Given the description of an element on the screen output the (x, y) to click on. 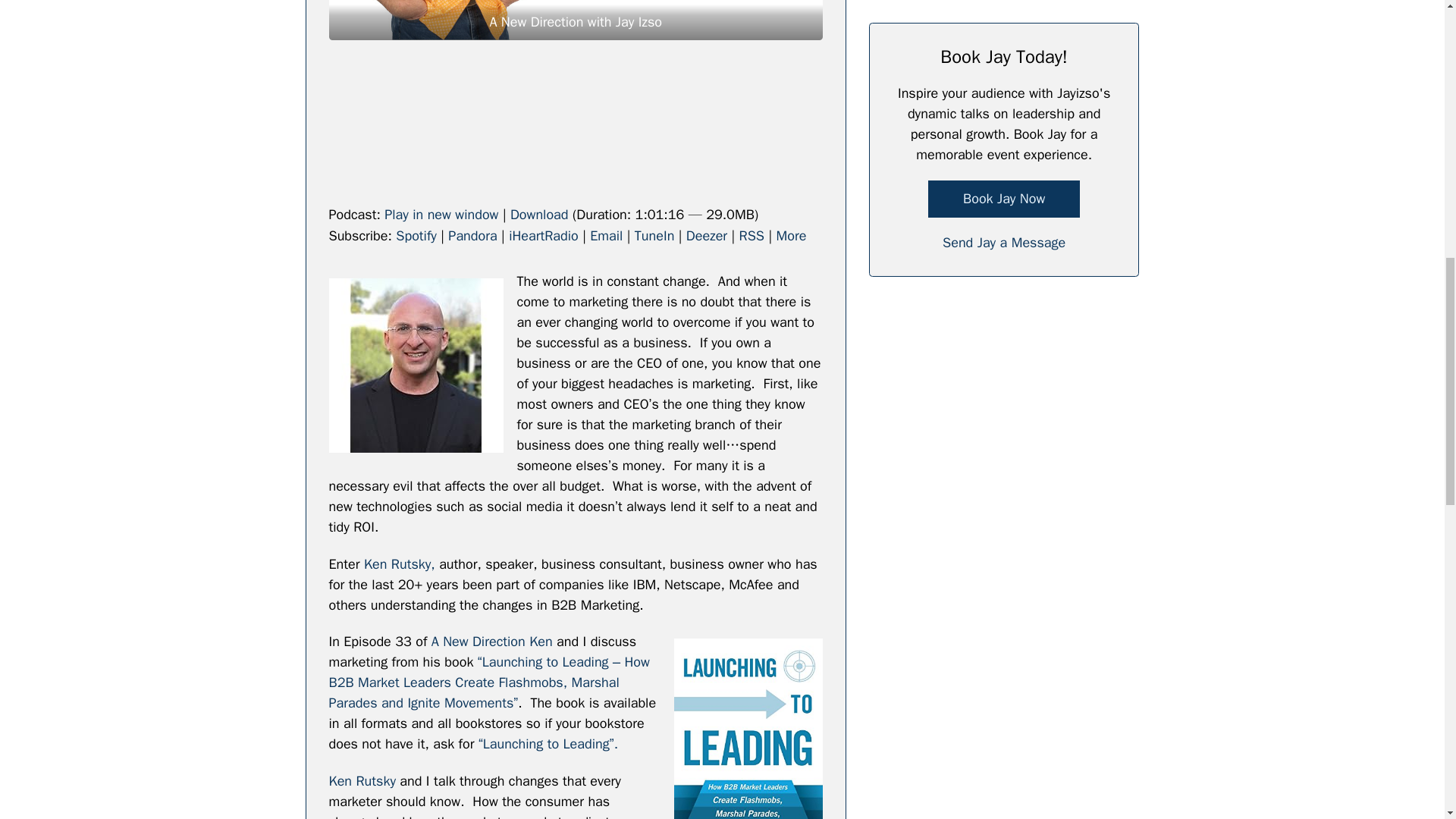
Subscribe on iHeartRadio (543, 235)
Subscribe by Email (606, 235)
Subscribe on TuneIn (654, 235)
Download (540, 214)
Play in new window (440, 214)
More (791, 235)
Subscribe on Deezer (705, 235)
Subscribe via RSS (751, 235)
Blubrry Podcast Player (575, 128)
Subscribe on Pandora (472, 235)
Subscribe on Spotify (416, 235)
